Given the description of an element on the screen output the (x, y) to click on. 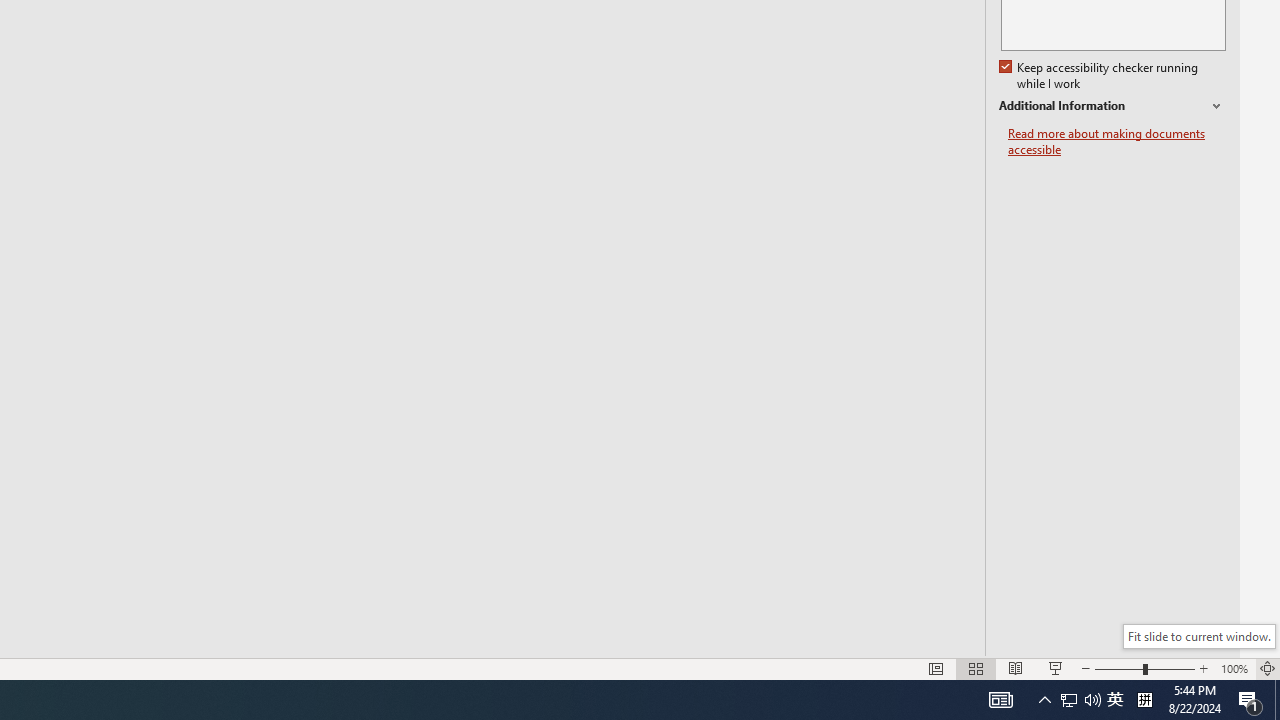
Slide Sorter (975, 668)
Zoom (1144, 668)
Reading View (1015, 668)
Normal (936, 668)
Zoom Out (1118, 668)
Additional Information (1112, 106)
Zoom 100% (1234, 668)
Keep accessibility checker running while I work (1099, 76)
Zoom In (1204, 668)
Fit slide to current window. (1199, 636)
Read more about making documents accessible (1117, 142)
Zoom to Fit  (1267, 668)
